Given the description of an element on the screen output the (x, y) to click on. 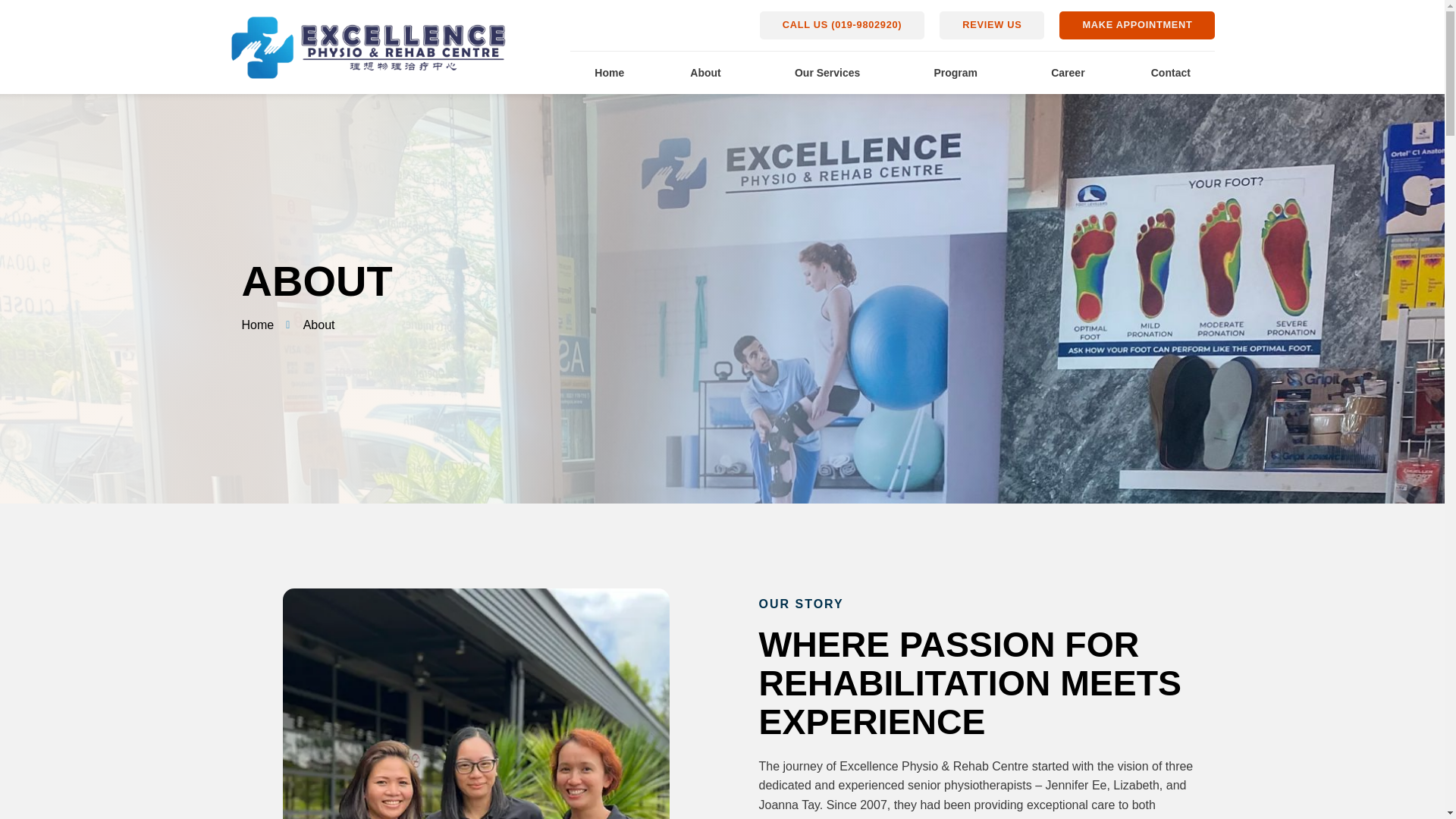
Program (959, 72)
REVIEW US (991, 25)
Career (1067, 72)
MAKE APPOINTMENT (1136, 25)
Home (257, 324)
Contact (1169, 72)
About (709, 72)
Home (609, 72)
Our Services (831, 72)
